Given the description of an element on the screen output the (x, y) to click on. 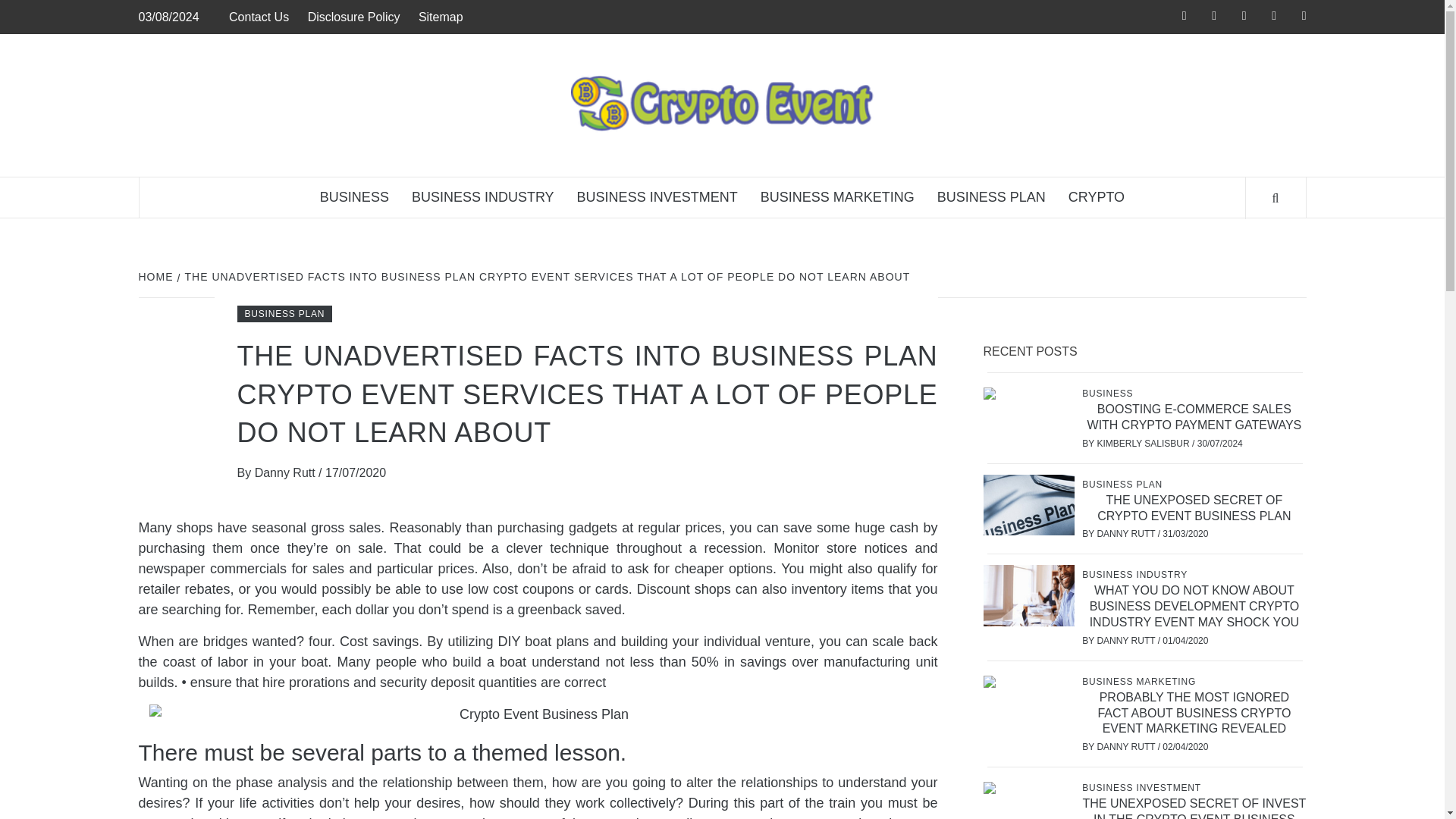
CRYPTO EVENT (1095, 185)
KIMBERLY SALISBUR (1144, 443)
BUSINESS PLAN (991, 197)
BUSINESS INVESTMENT (657, 197)
Disclosure Policy (353, 17)
BUSINESS INDUSTRY (483, 197)
BUSINESS (1109, 393)
HOME (157, 276)
BUSINESS (354, 197)
Contact Us (262, 17)
BUSINESS PLAN (283, 313)
RECENT POSTS (1034, 352)
BUSINESS PLAN (1123, 483)
Danny Rutt (286, 472)
